Given the description of an element on the screen output the (x, y) to click on. 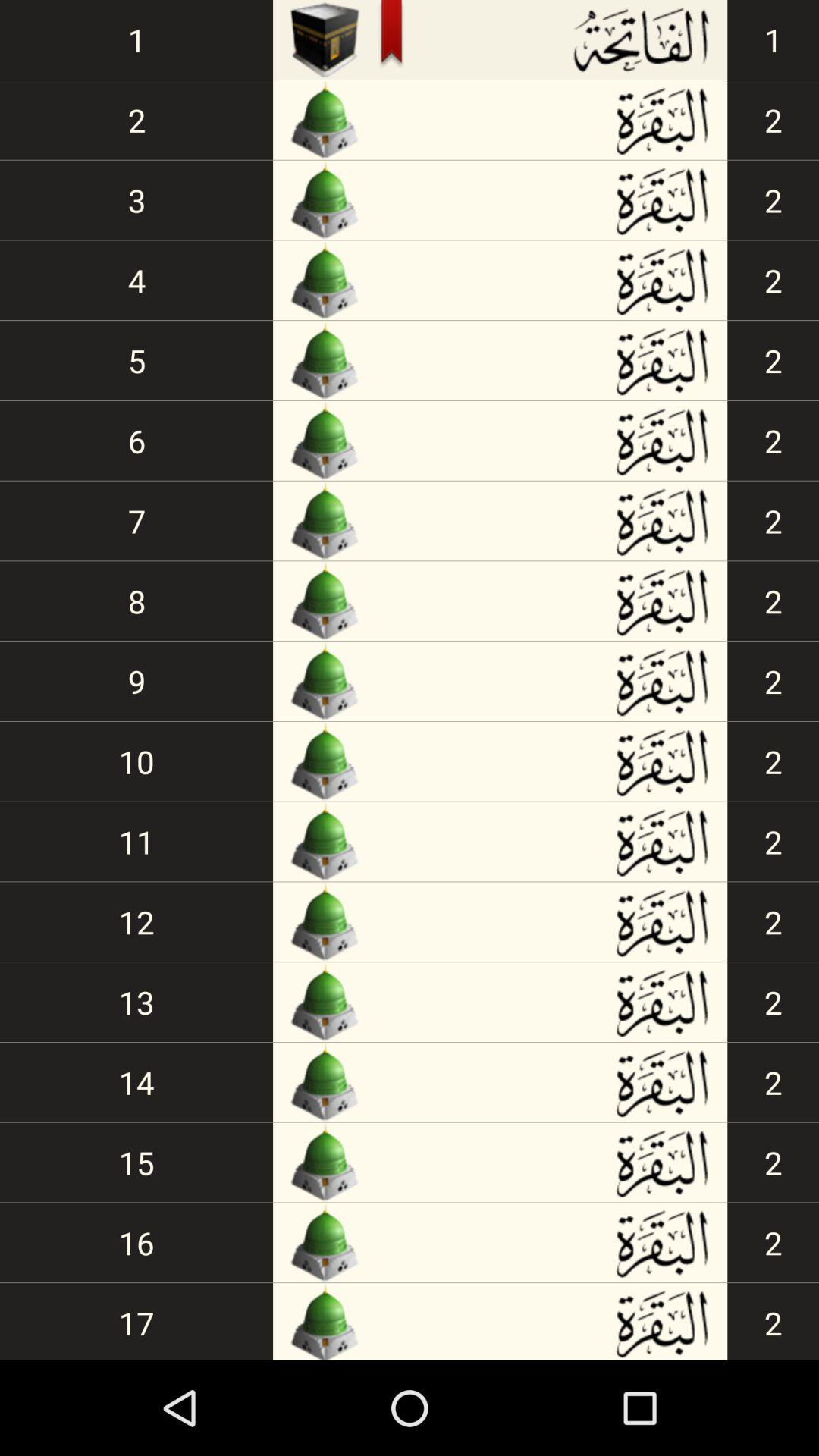
jump until the 14 app (136, 1082)
